Given the description of an element on the screen output the (x, y) to click on. 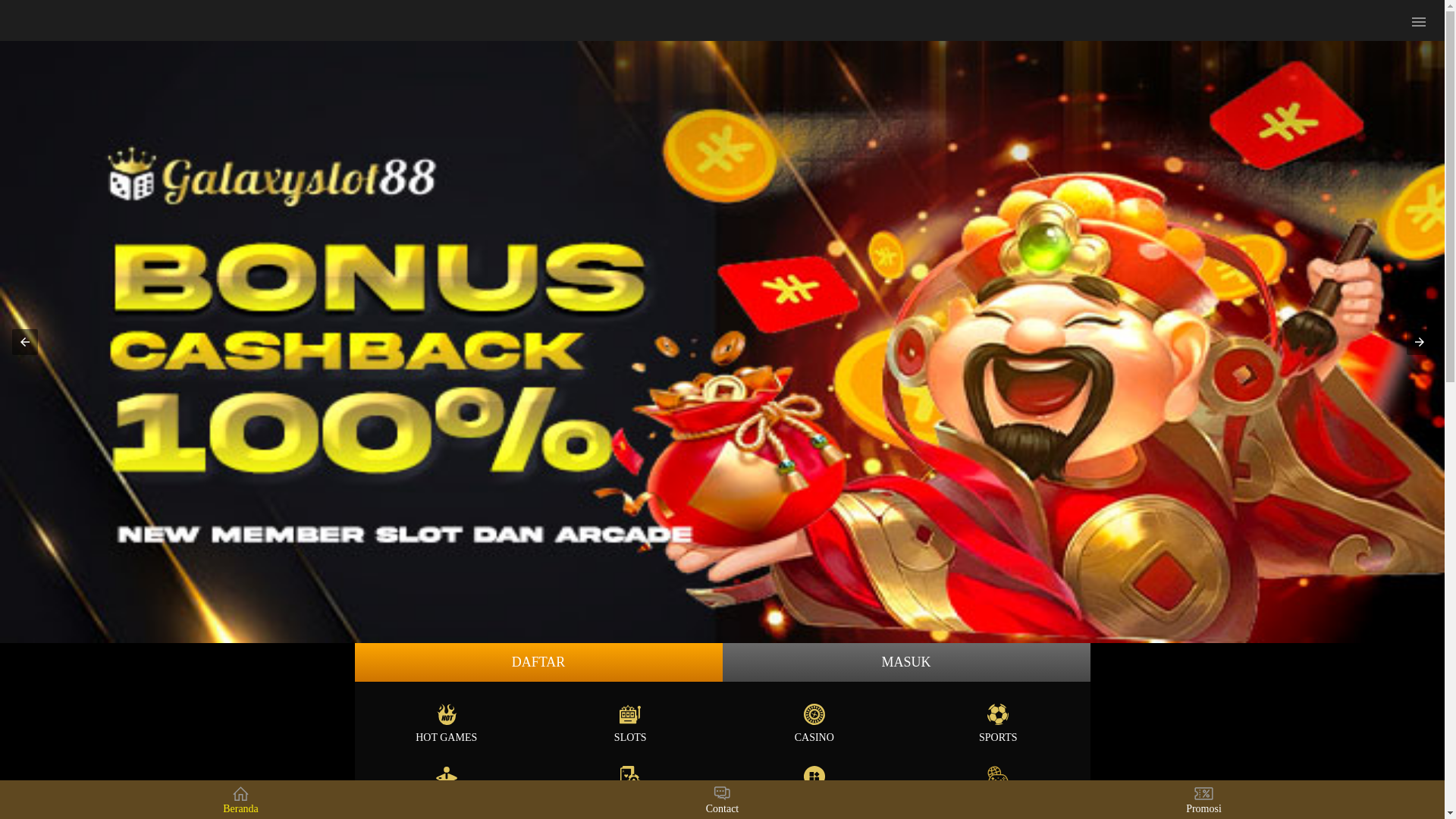
Contact Element type: text (721, 799)
ARCADE Element type: text (445, 782)
Promosi Element type: text (1203, 799)
Next item in carousel (1 of 3) Element type: hover (1419, 341)
E-SPORTS Element type: text (998, 782)
Beranda Element type: text (240, 799)
SPORTS Element type: text (998, 720)
POKER Element type: text (630, 782)
TOGEL Element type: text (814, 782)
MASUK Element type: text (905, 662)
Previous item in carousel (2 of 3) Element type: hover (24, 341)
HOT GAMES Element type: text (445, 720)
SLOTS Element type: text (630, 720)
CASINO Element type: text (814, 720)
BONUS CASHBACK 100 Element type: hover (722, 341)
DAFTAR Element type: text (538, 662)
